Given the description of an element on the screen output the (x, y) to click on. 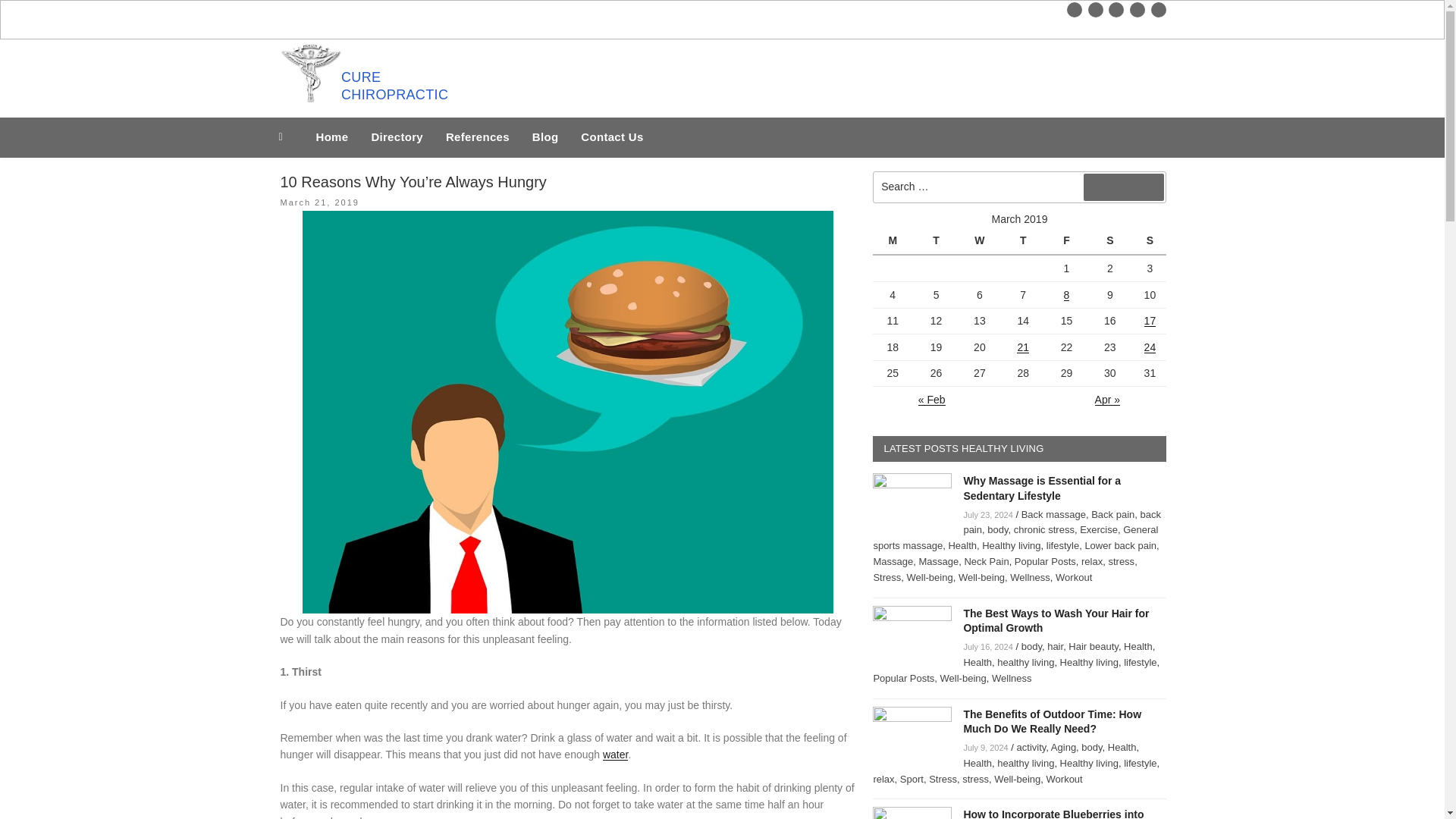
CURE CHIROPRACTIC (408, 85)
body (997, 529)
Sunday (1150, 240)
Monday (893, 240)
back pain (1061, 522)
twitter (1095, 9)
21 (1022, 346)
Exercise (1099, 529)
Back massage (1054, 514)
March 21, 2019 (320, 201)
Directory (396, 137)
Wednesday (981, 240)
pinterest (1158, 9)
References (477, 137)
Blog (545, 137)
